Given the description of an element on the screen output the (x, y) to click on. 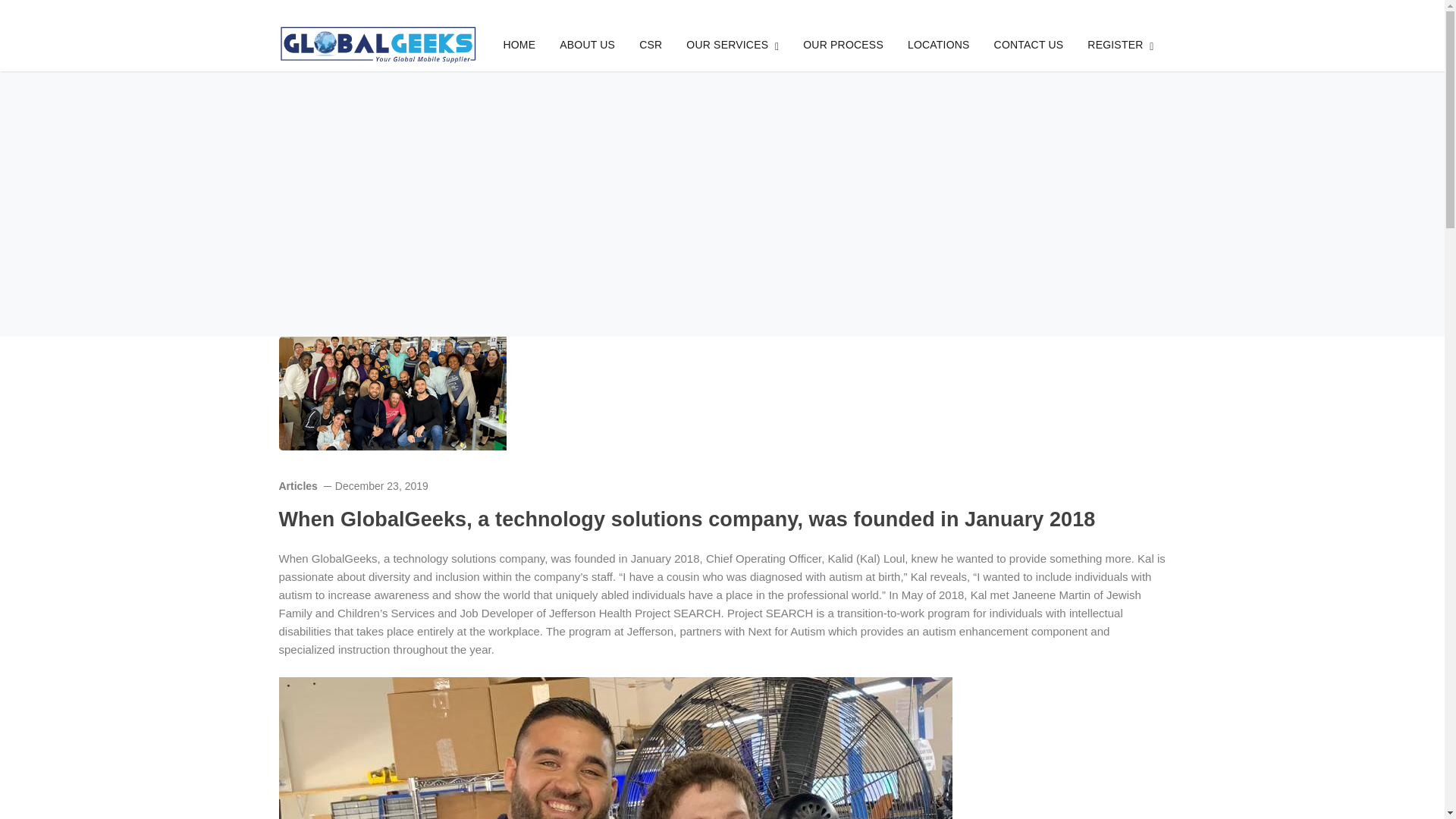
CONTACT US (1029, 44)
GlobalGeeks (377, 42)
REGISTER (1120, 44)
LOCATIONS (938, 44)
OUR SERVICES (731, 44)
Articles (298, 485)
ABOUT US (586, 44)
OUR PROCESS (843, 44)
